Given the description of an element on the screen output the (x, y) to click on. 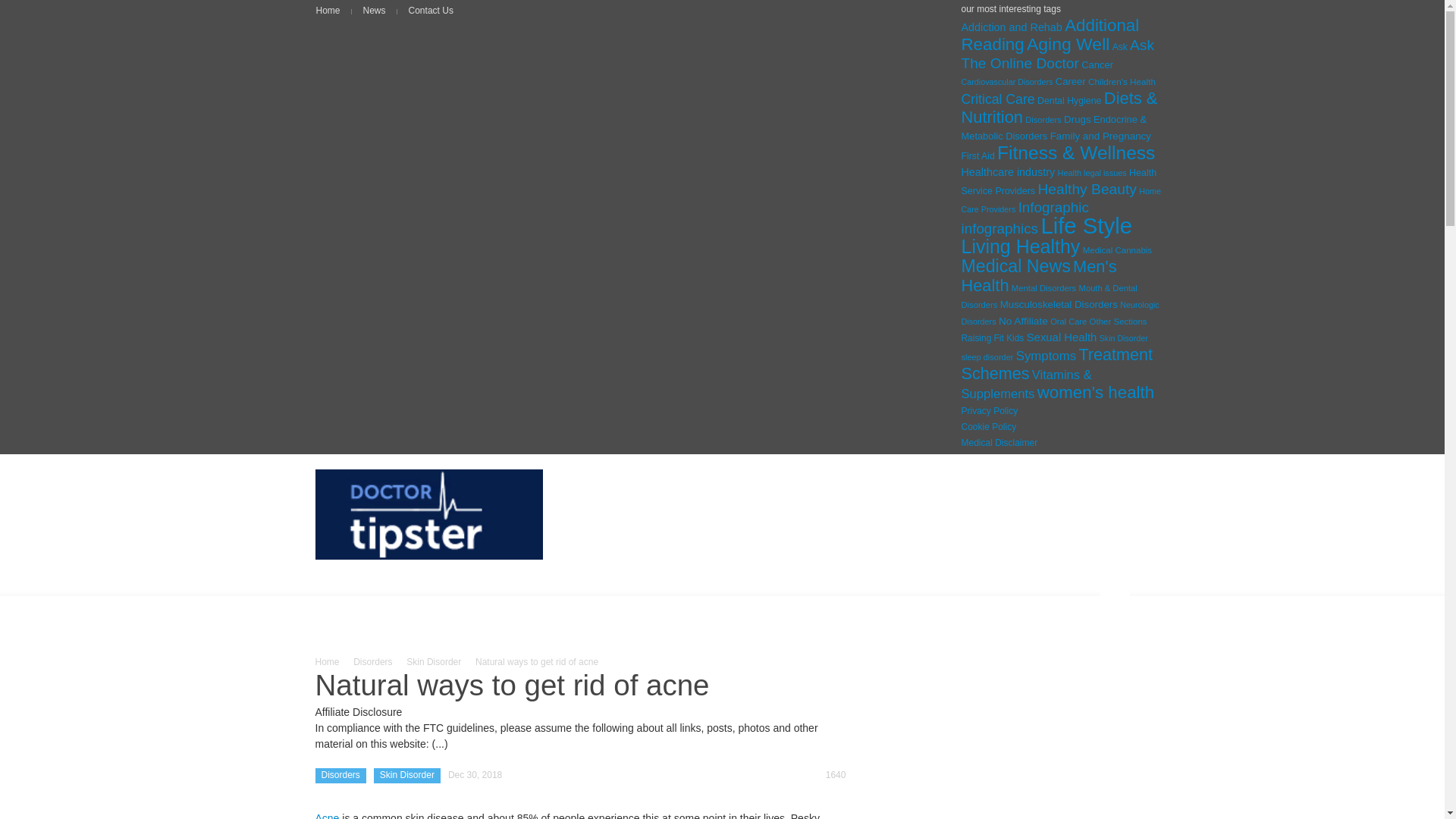
View all posts in Disorders (372, 661)
View all posts in Skin Disorder (433, 661)
Doctor Tipster (429, 514)
